Given the description of an element on the screen output the (x, y) to click on. 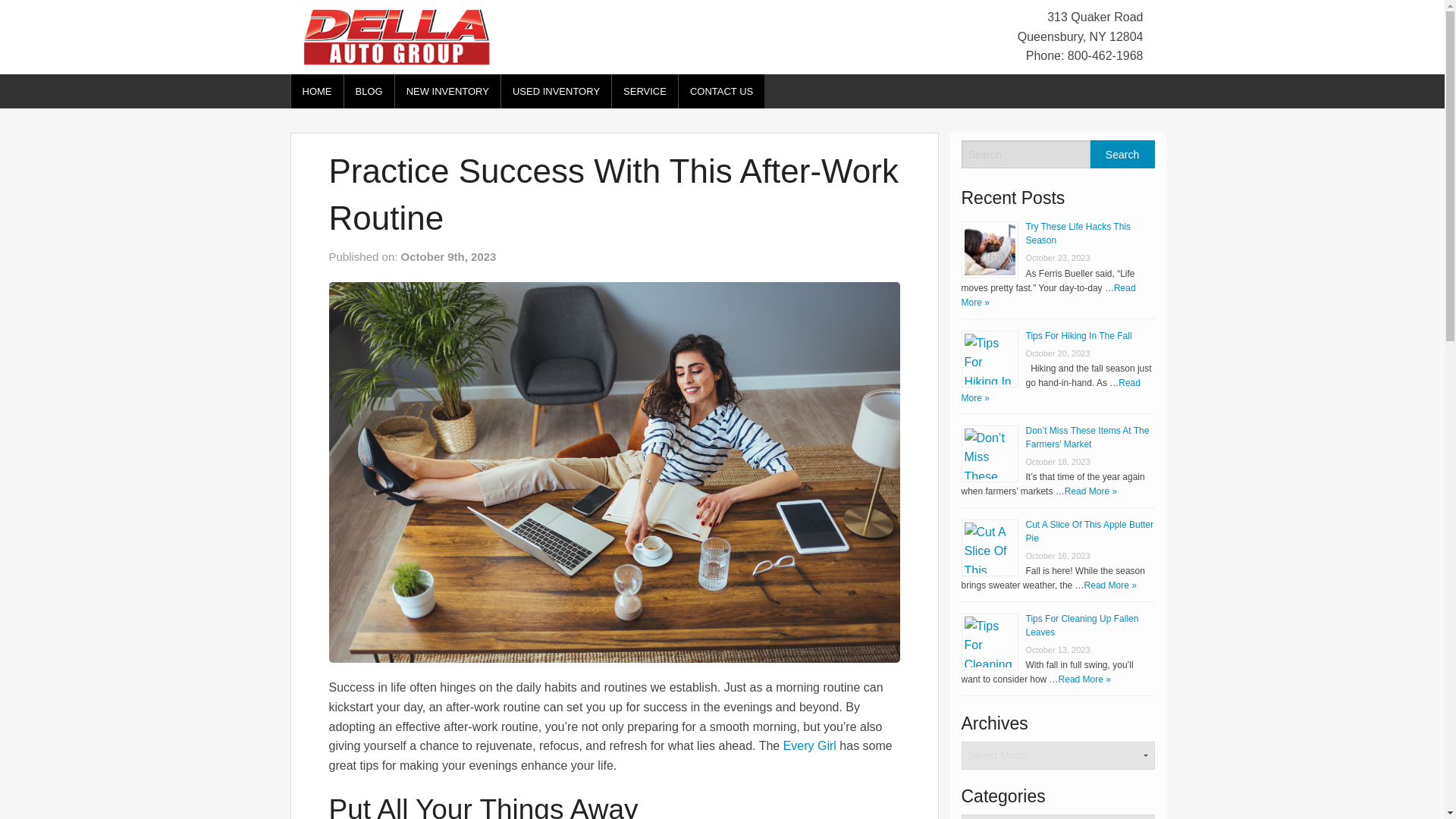
Tips For Cleaning Up Fallen Leaves (1081, 625)
NEW INVENTORY (447, 91)
Search (1122, 154)
Search (1122, 154)
Della Auto Group (396, 35)
BLOG (368, 91)
USED INVENTORY (555, 91)
CONTACT US (721, 91)
Every Girl (809, 745)
SERVICE (644, 91)
